Given the description of an element on the screen output the (x, y) to click on. 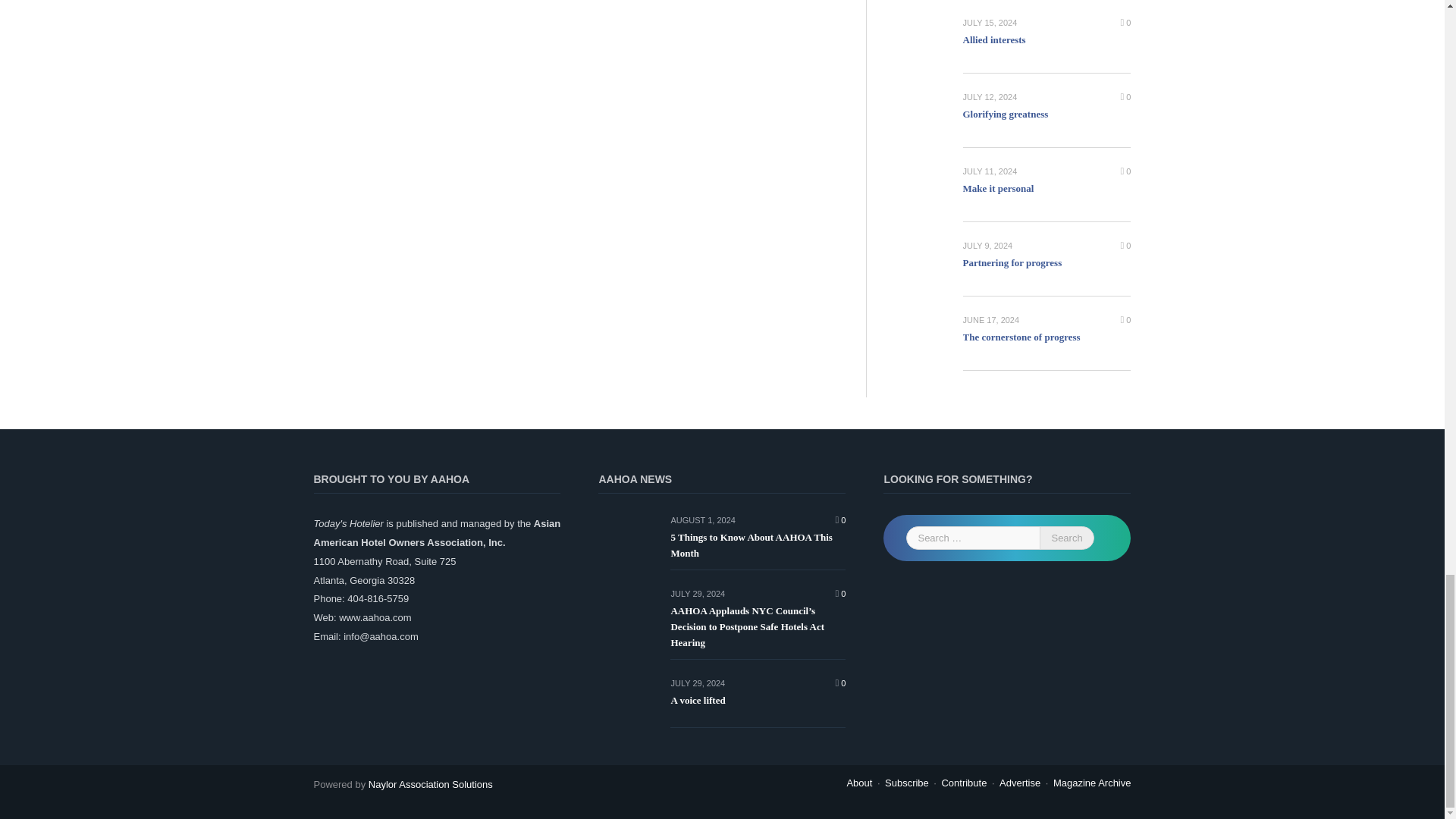
Search (1066, 537)
Search (1066, 537)
